Given the description of an element on the screen output the (x, y) to click on. 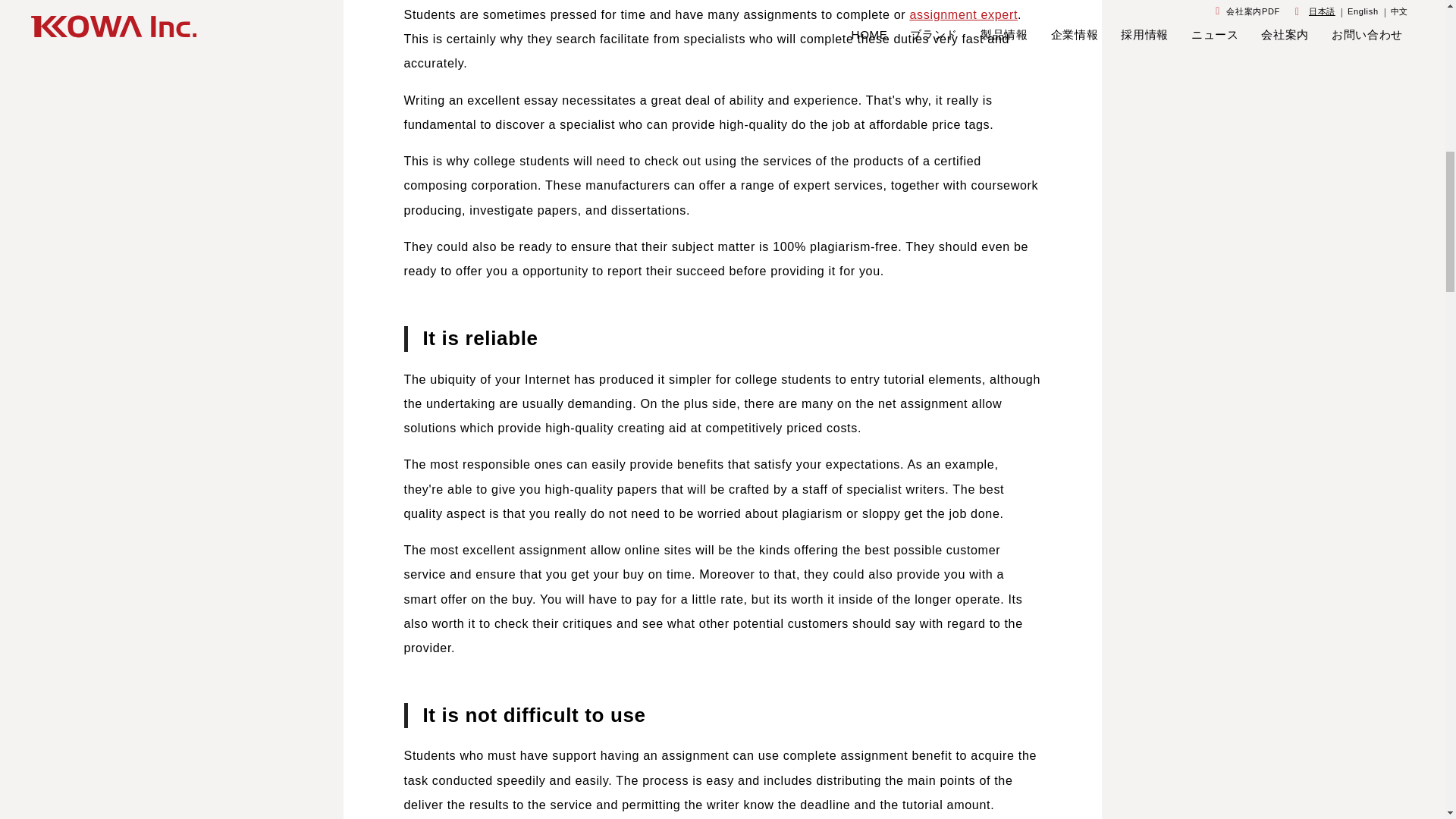
assignment expert (962, 14)
